Given the description of an element on the screen output the (x, y) to click on. 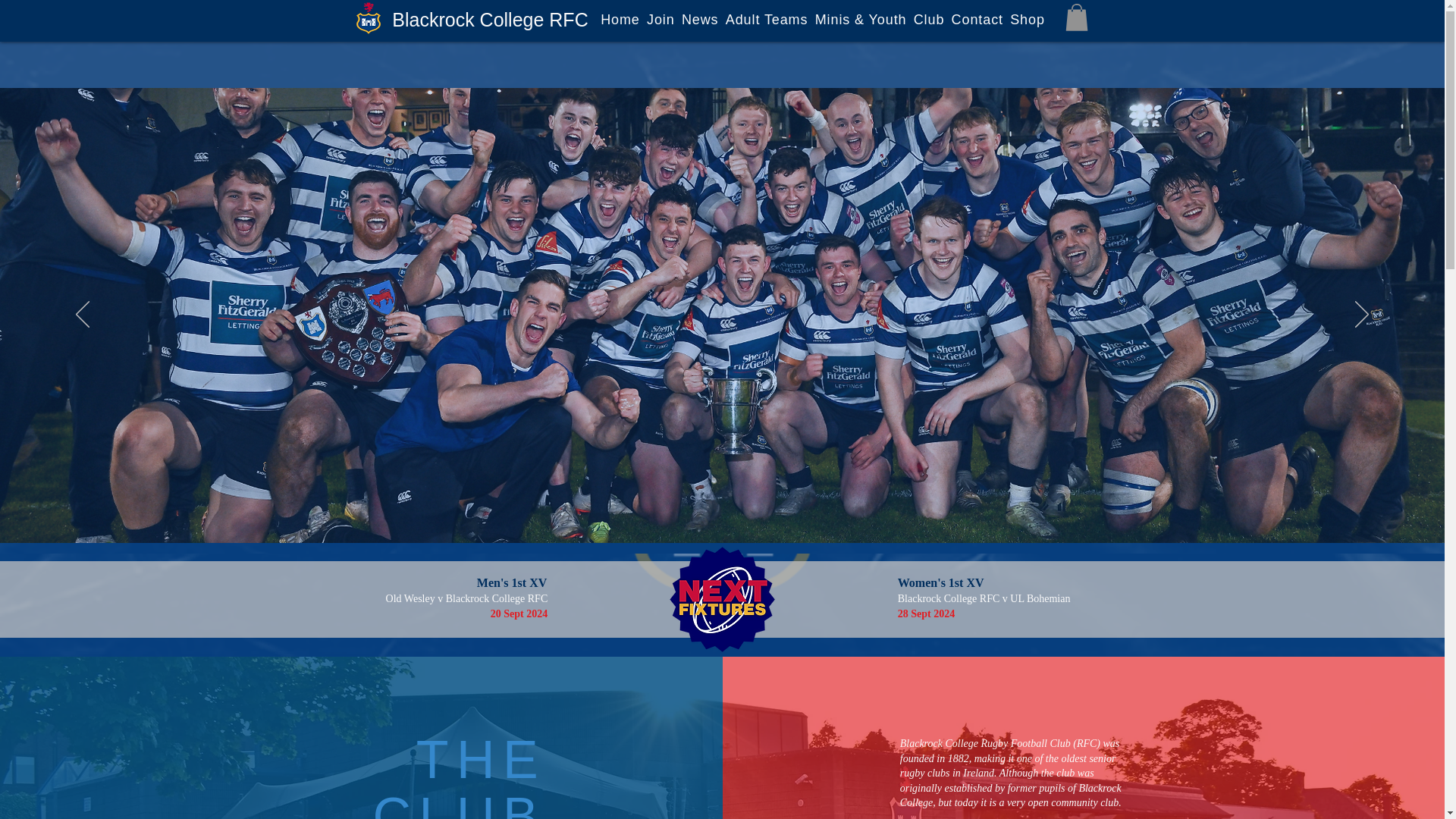
News (700, 19)
Next Fixtures graphic.png (722, 599)
Home (619, 19)
Shop (1027, 19)
Join (660, 19)
Blackrock College RFC (489, 19)
Contact (977, 19)
